Given the description of an element on the screen output the (x, y) to click on. 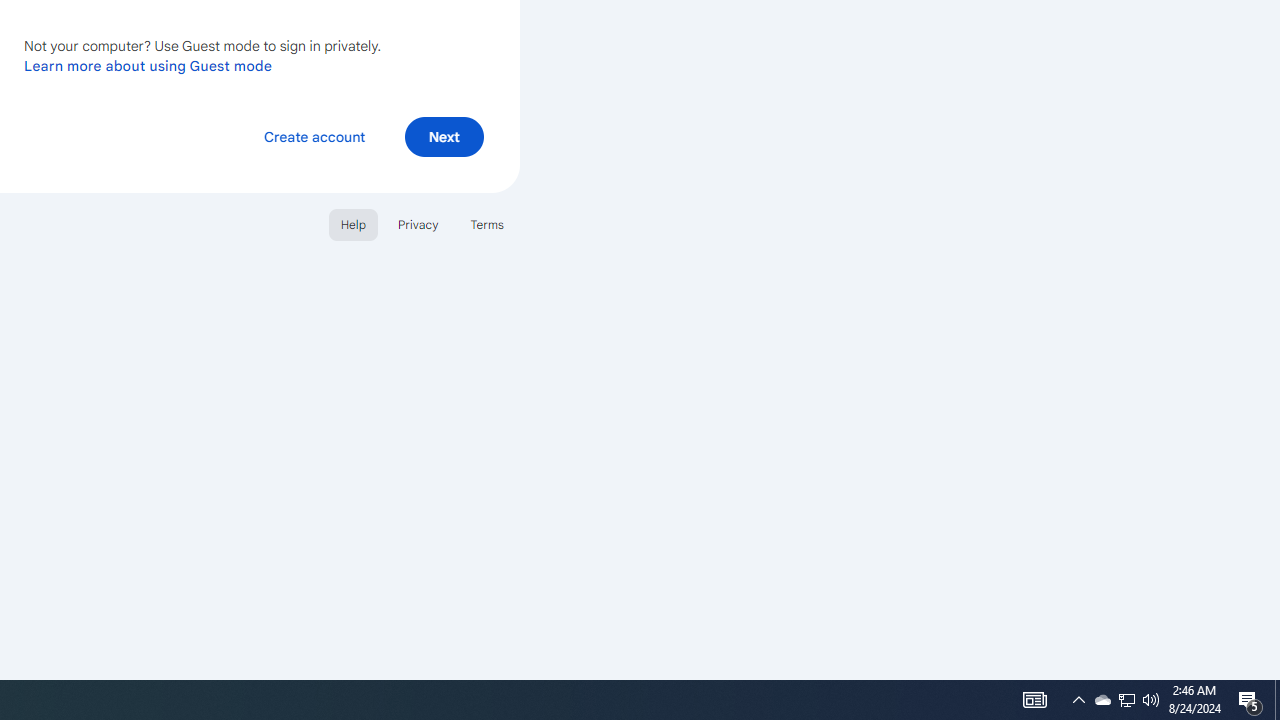
Create account (314, 135)
Next (443, 135)
Learn more about using Guest mode (148, 65)
